Given the description of an element on the screen output the (x, y) to click on. 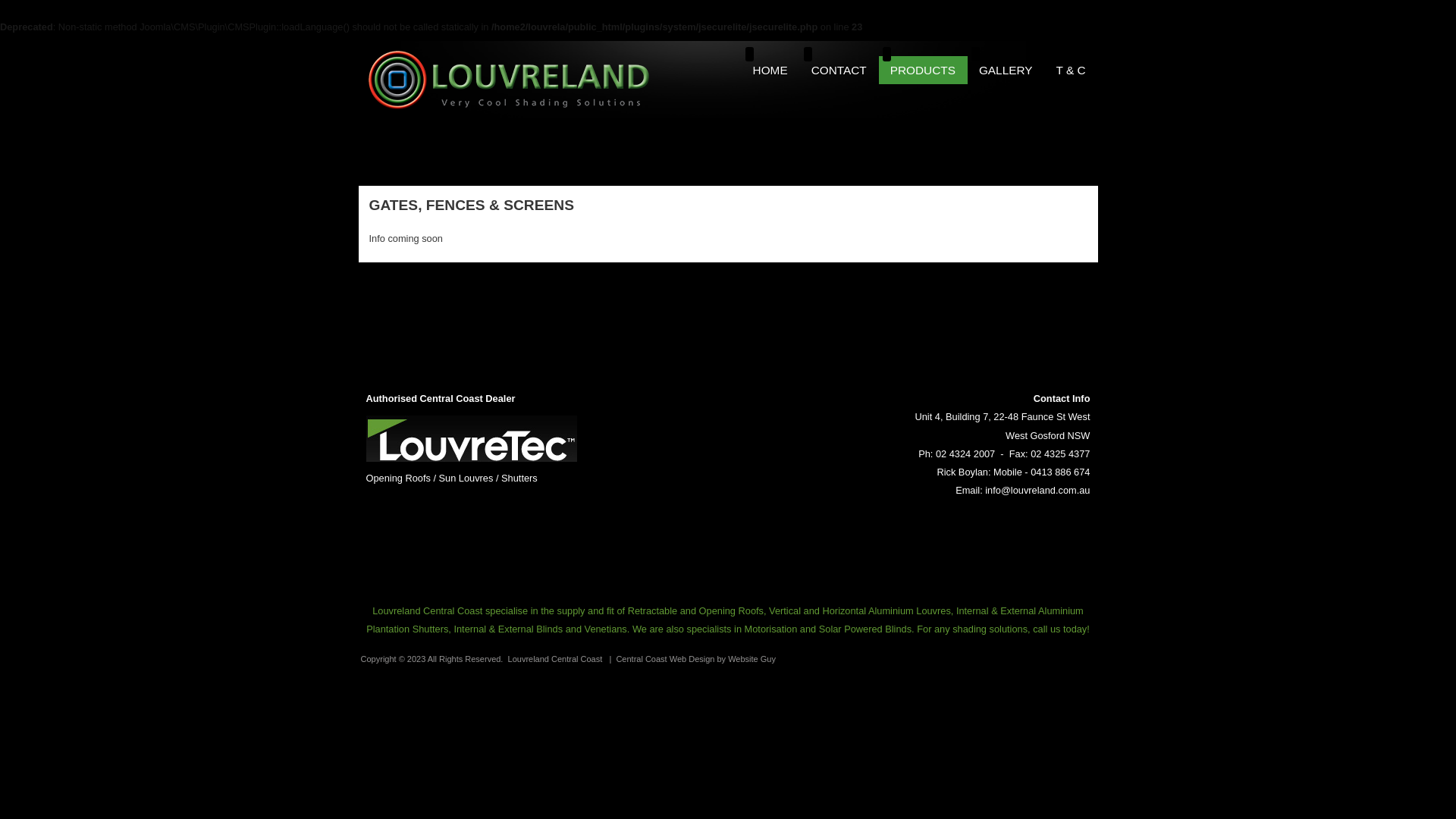
CONTACT Element type: text (844, 69)
PRODUCTS Element type: text (928, 69)
GALLERY Element type: text (1011, 69)
info@louvreland.com.au Element type: text (1037, 489)
T & C Element type: text (1077, 69)
HOME Element type: text (776, 69)
